Given the description of an element on the screen output the (x, y) to click on. 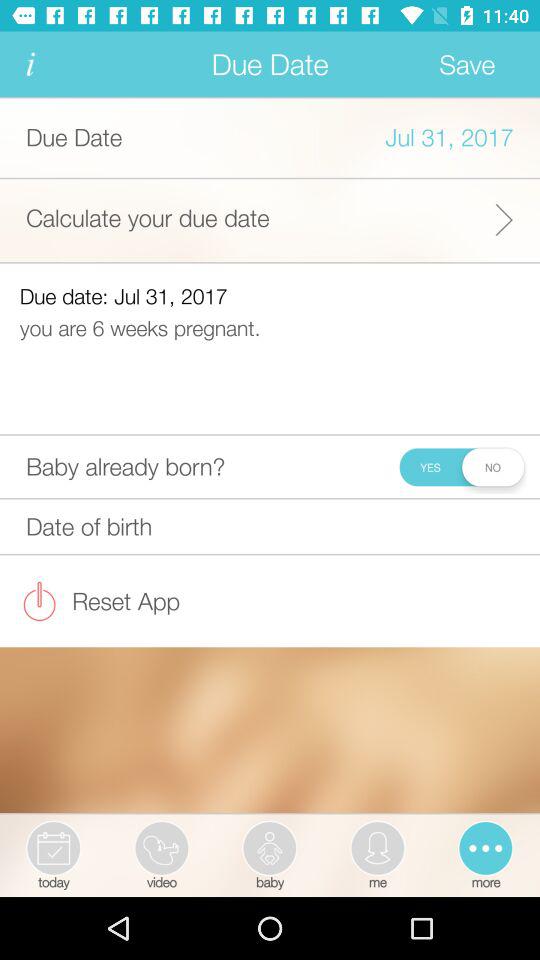
data application (30, 63)
